Given the description of an element on the screen output the (x, y) to click on. 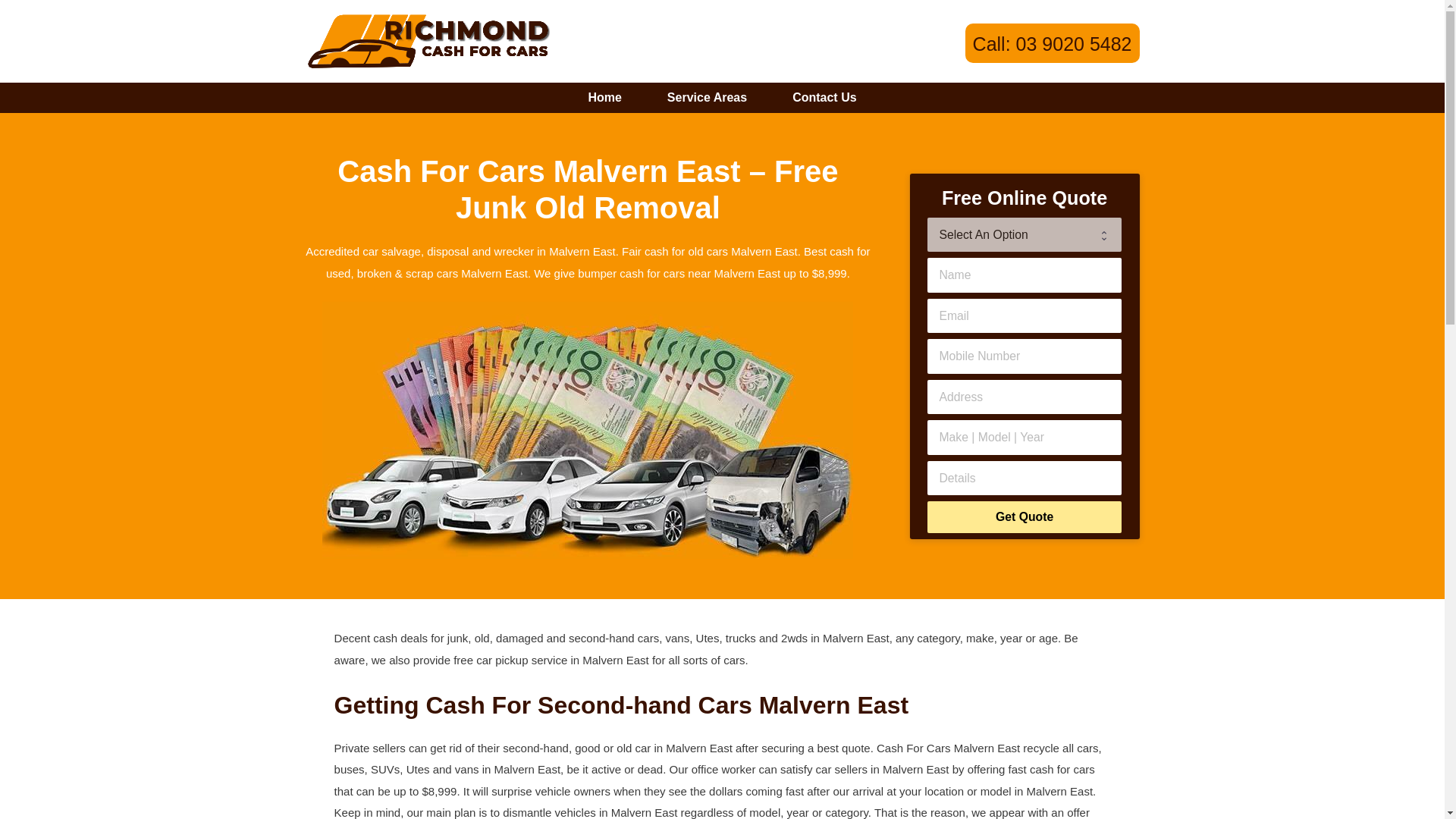
Service Areas (707, 97)
Cash For Cars Richmond (427, 39)
Get Quote (1024, 517)
Call: 03 9020 5482 (1052, 43)
Home (603, 97)
Cash For Cars Richmond (427, 41)
Contact Us (824, 97)
